Given the description of an element on the screen output the (x, y) to click on. 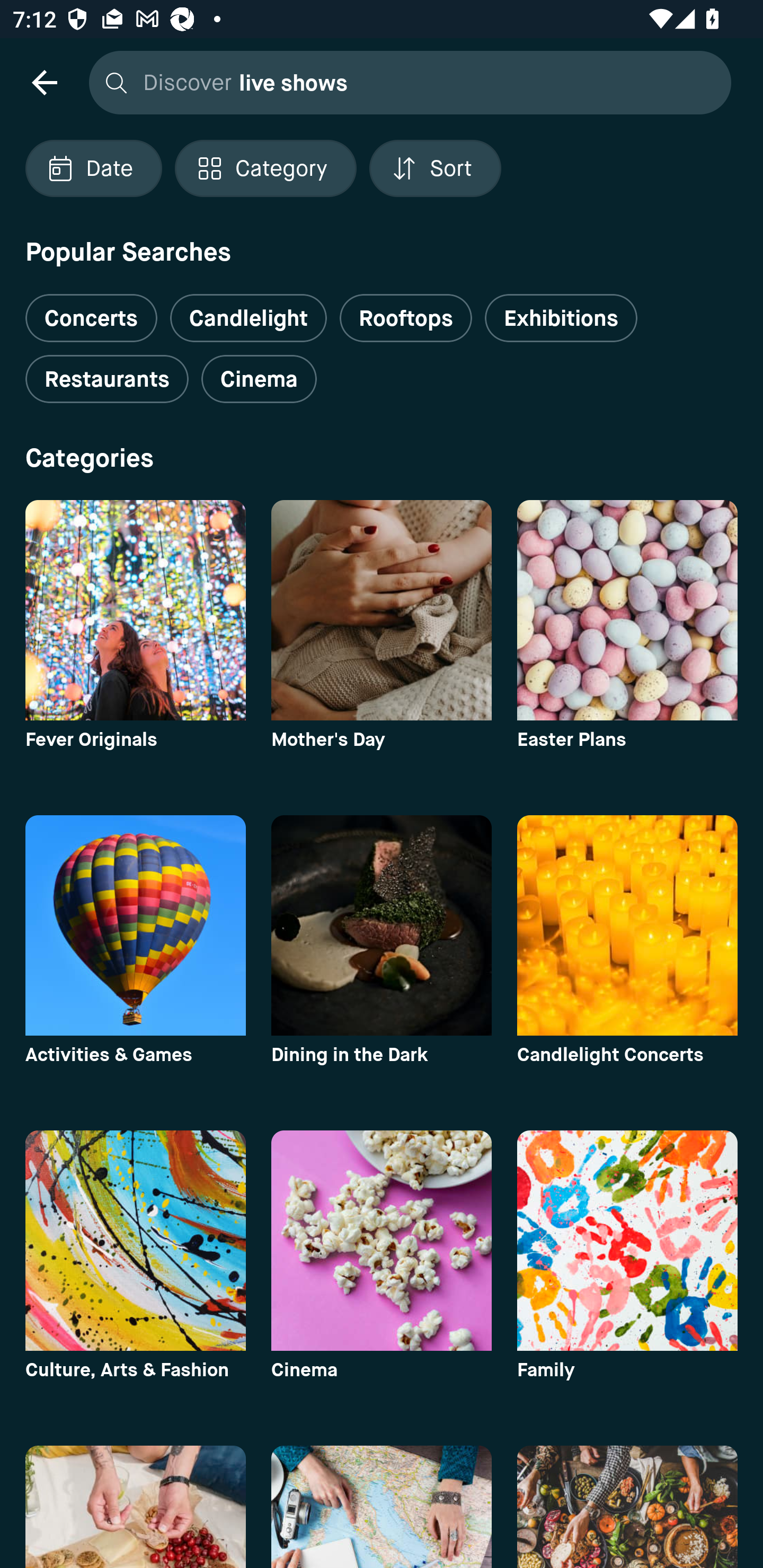
navigation icon (44, 81)
Discover live shows (405, 81)
Localized description Date (93, 168)
Localized description Category (265, 168)
Localized description Sort (435, 168)
Concerts (91, 310)
Candlelight (248, 317)
Rooftops (405, 317)
Exhibitions (560, 317)
Restaurants (106, 379)
Cinema (258, 379)
category image (135, 609)
category image (381, 609)
category image (627, 609)
category image (135, 924)
category image (381, 924)
category image (627, 924)
category image (135, 1240)
category image (381, 1240)
category image (627, 1240)
category image (135, 1506)
category image (381, 1506)
category image (627, 1506)
